Given the description of an element on the screen output the (x, y) to click on. 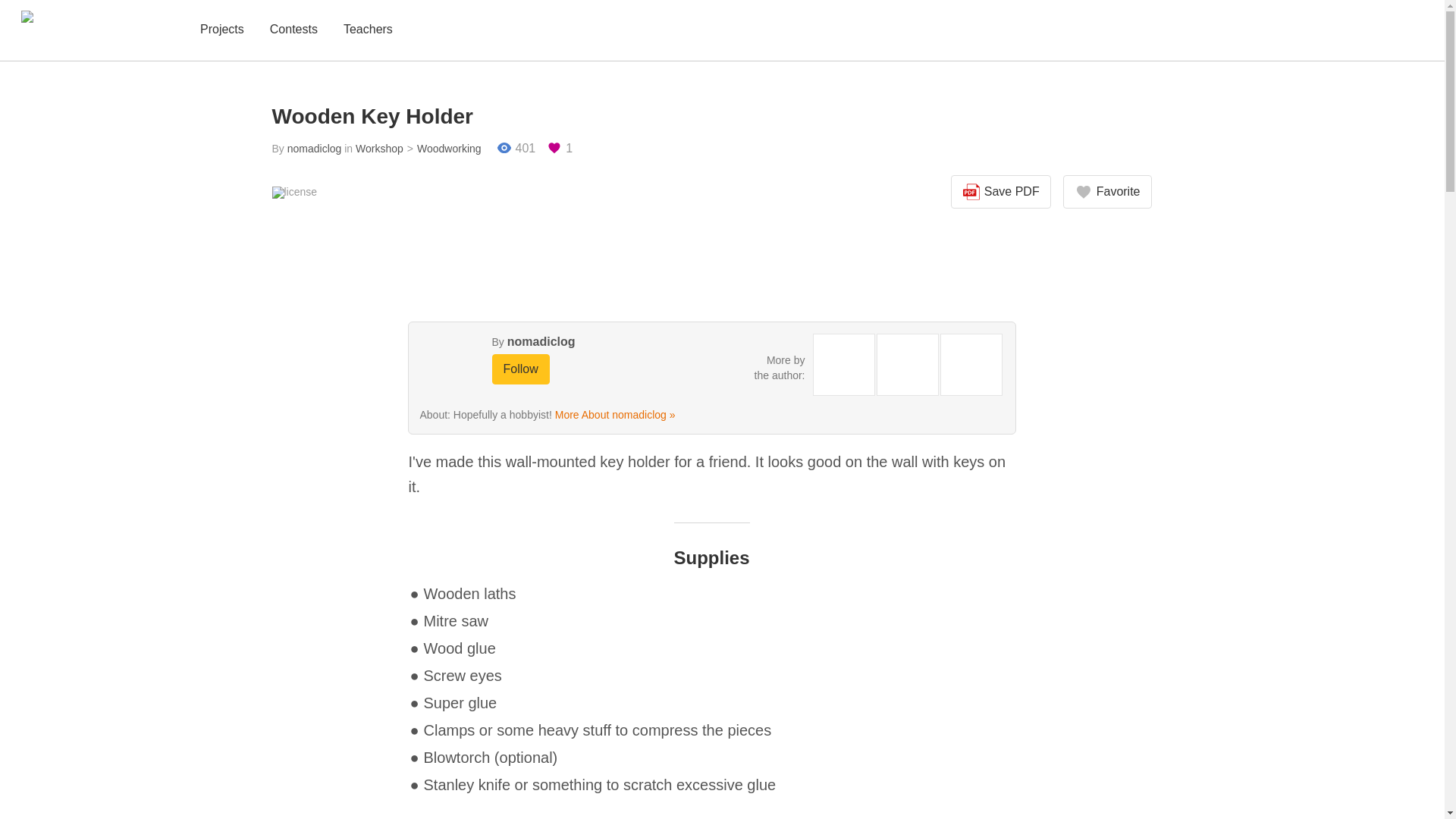
Projects (221, 30)
nomadiclog (540, 341)
nomadiclog (314, 148)
Save PDF (1000, 191)
Contests (293, 30)
Woodworking (442, 148)
Teachers (368, 30)
Favorite (1106, 191)
Follow (520, 368)
Workshop (379, 148)
